Given the description of an element on the screen output the (x, y) to click on. 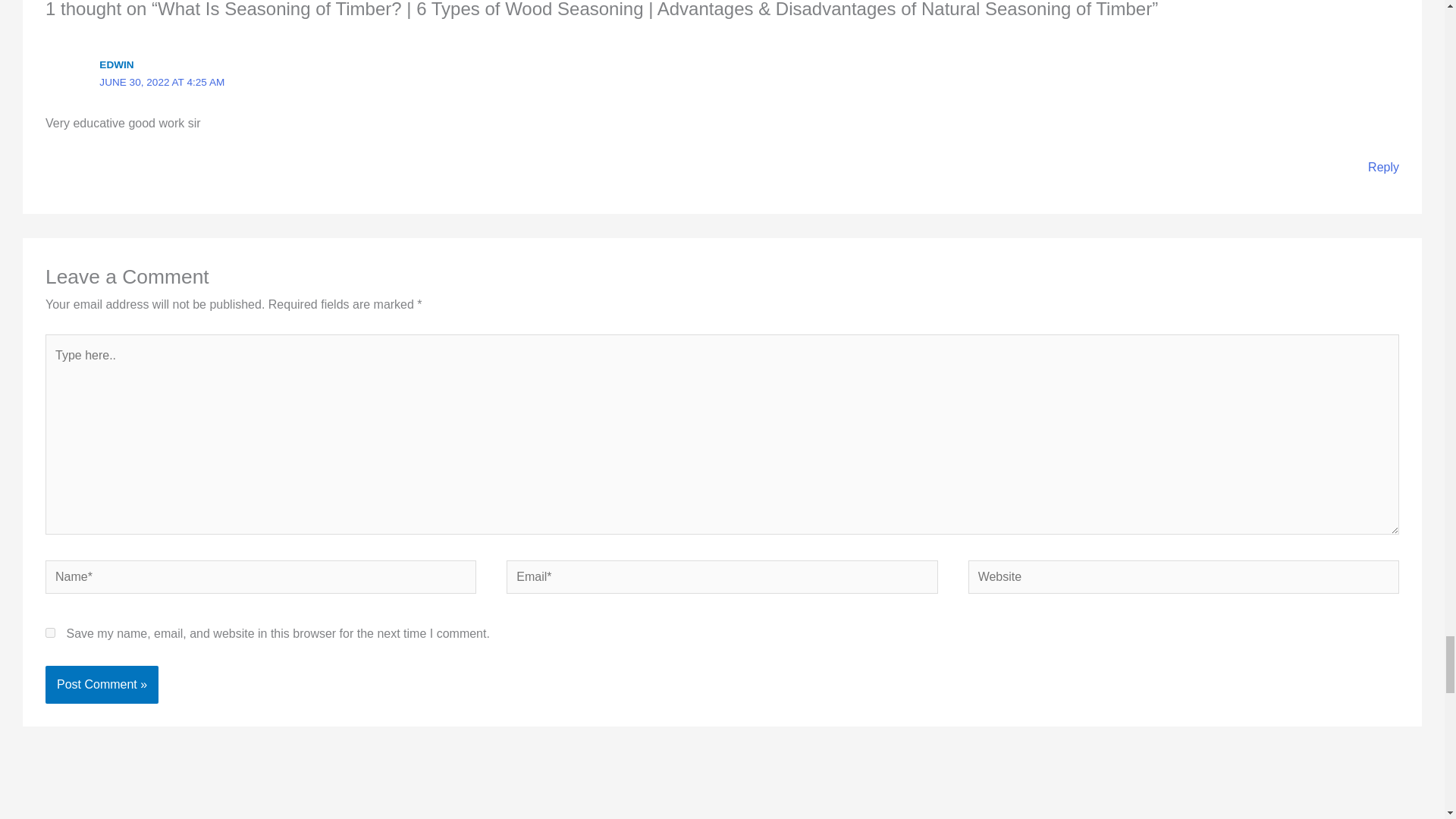
yes (50, 633)
